Given the description of an element on the screen output the (x, y) to click on. 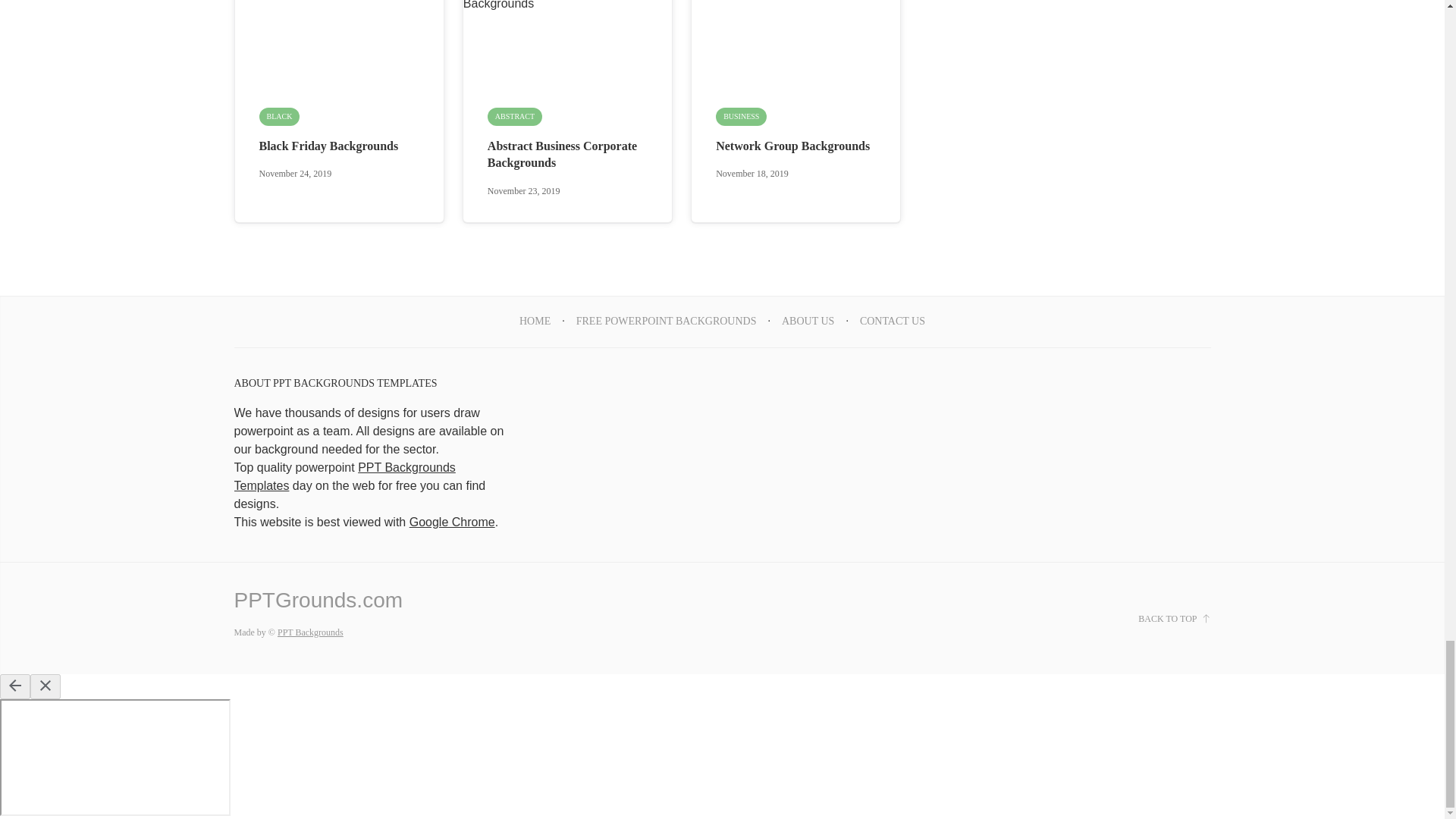
BACK TO TOP (1173, 618)
